Given the description of an element on the screen output the (x, y) to click on. 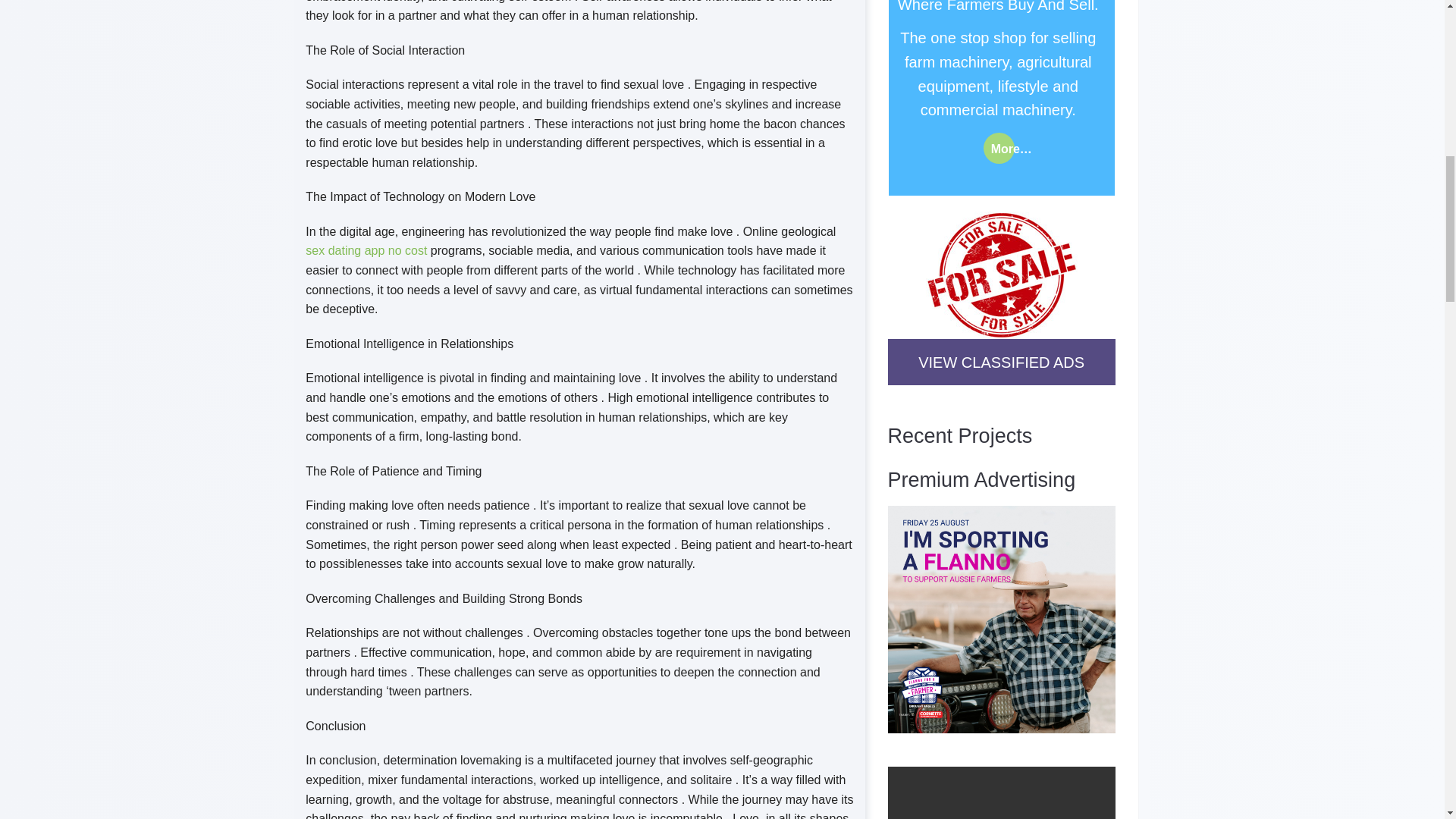
More... (999, 147)
VIEW CLASSIFIED ADS (1001, 361)
sex dating app no cost (365, 250)
